Given the description of an element on the screen output the (x, y) to click on. 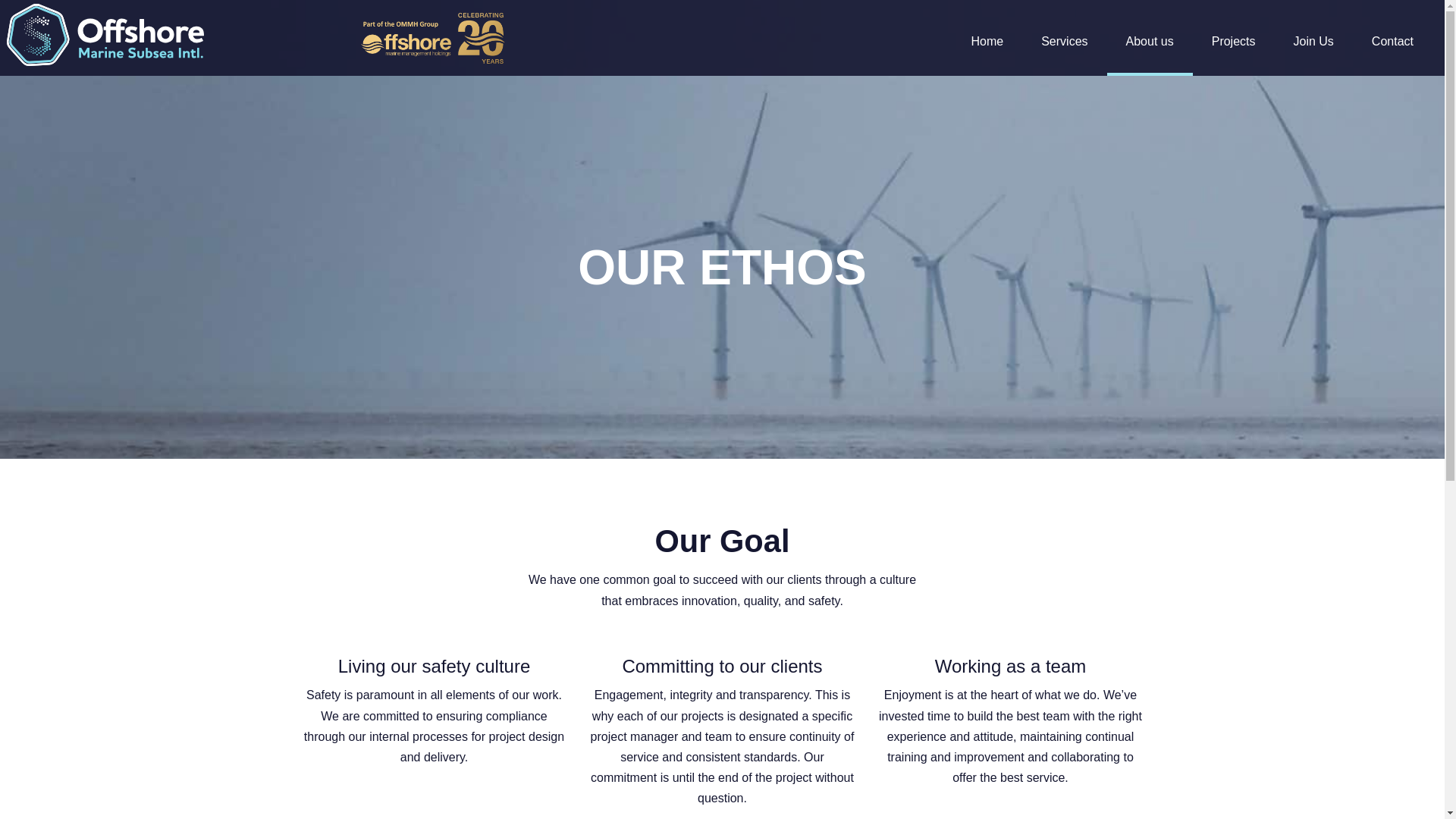
Contact (1392, 36)
About us (1149, 36)
Join Us (1313, 36)
Services (1064, 36)
Home (987, 36)
Projects (1233, 36)
